Given the description of an element on the screen output the (x, y) to click on. 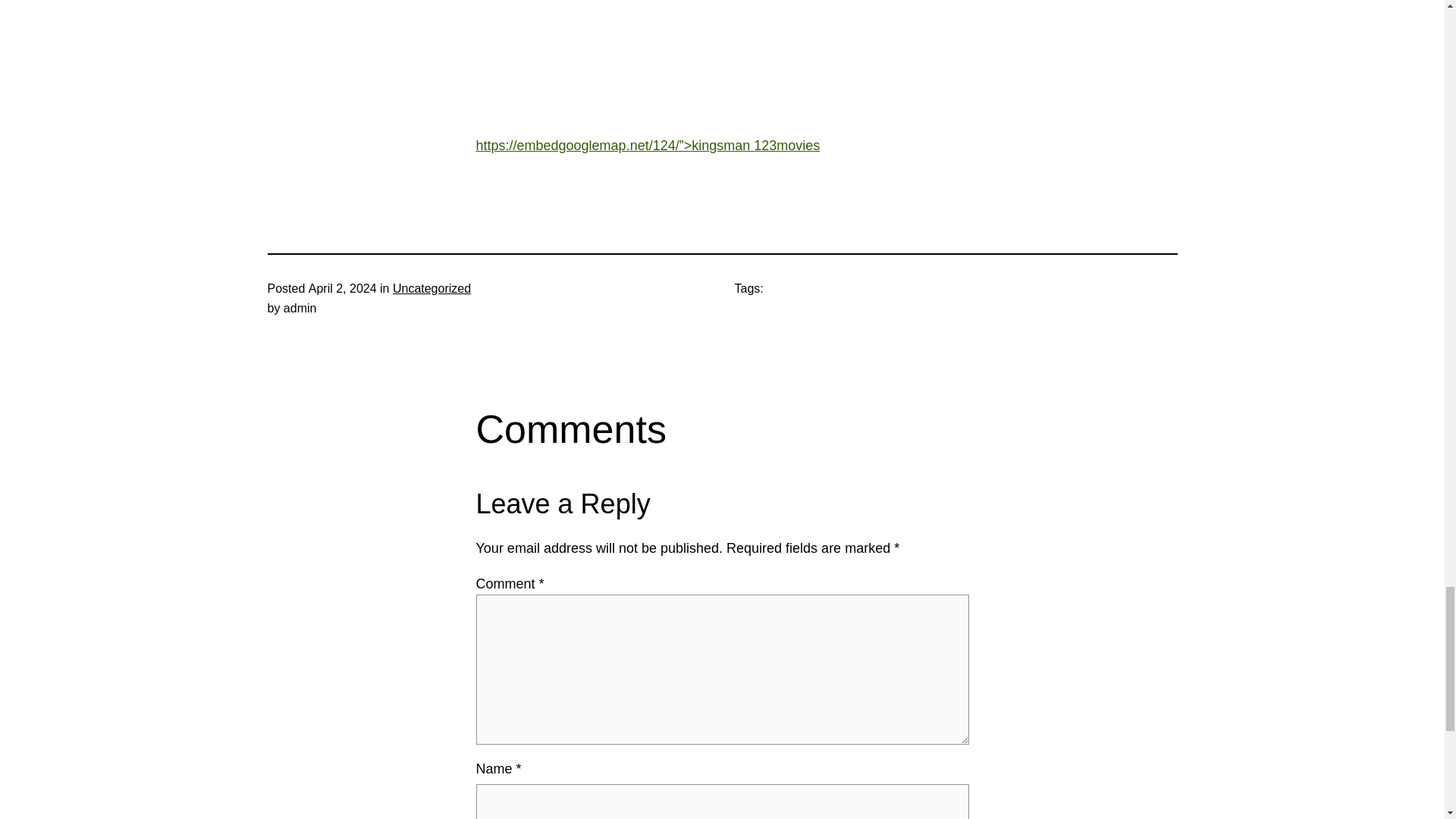
Uncategorized (431, 287)
